Given the description of an element on the screen output the (x, y) to click on. 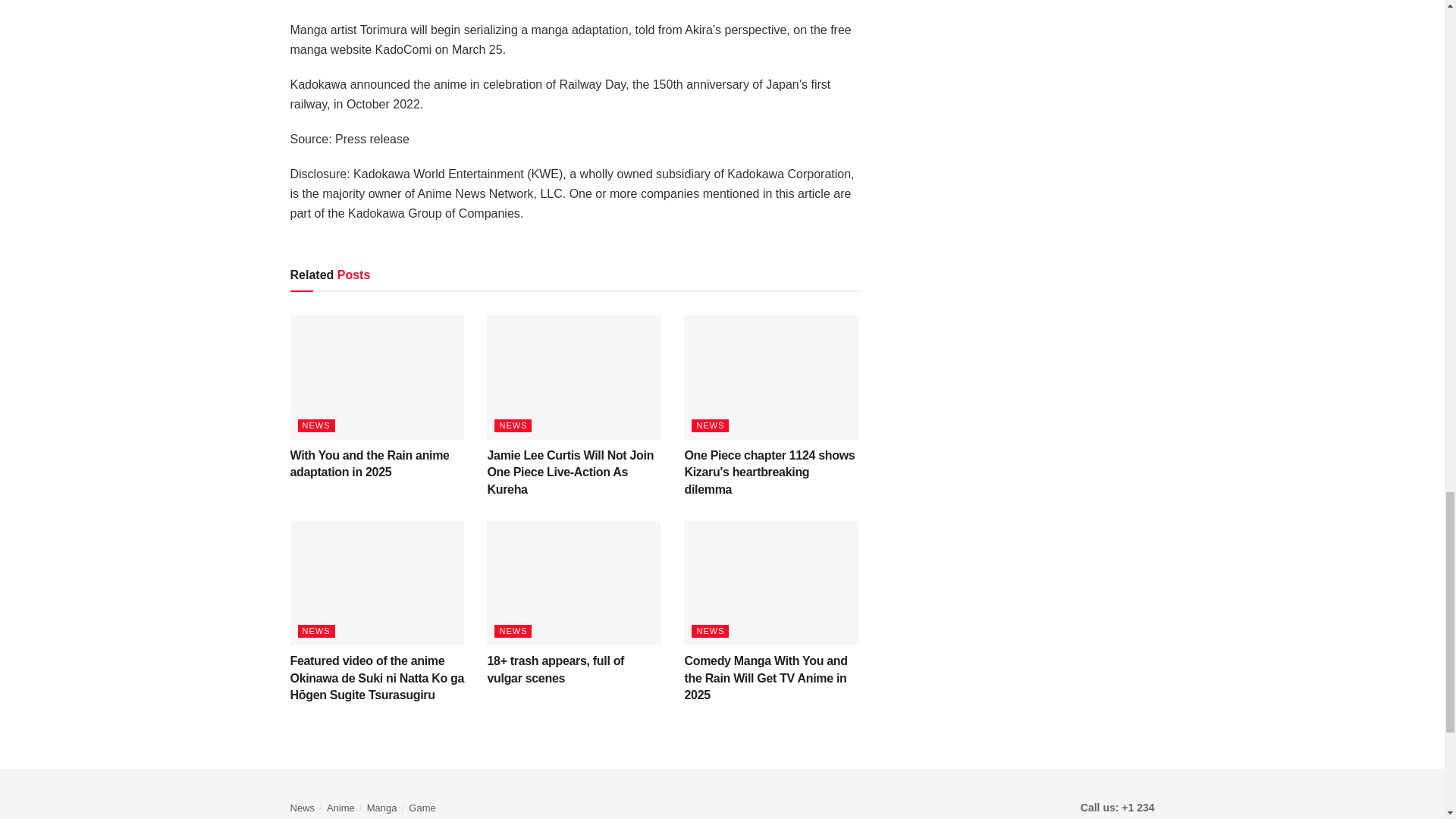
NEWS (710, 425)
NEWS (513, 631)
NEWS (513, 425)
One Piece chapter 1124 shows Kizaru's heartbreaking dilemma (769, 472)
NEWS (315, 425)
With You and the Rain anime adaptation in 2025 (368, 463)
NEWS (315, 631)
